Given the description of an element on the screen output the (x, y) to click on. 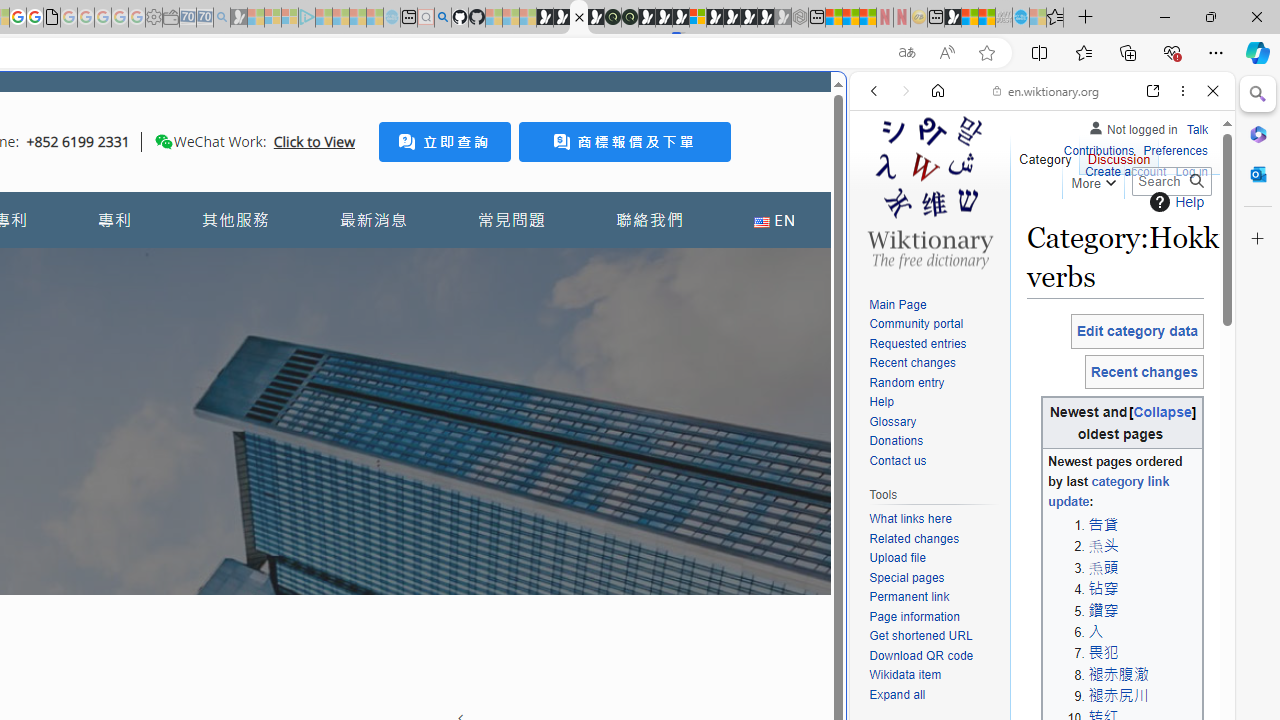
Random entry (934, 382)
Expand all (897, 694)
Expand all (934, 695)
Get shortened URL (920, 636)
What links here (910, 519)
